Given the description of an element on the screen output the (x, y) to click on. 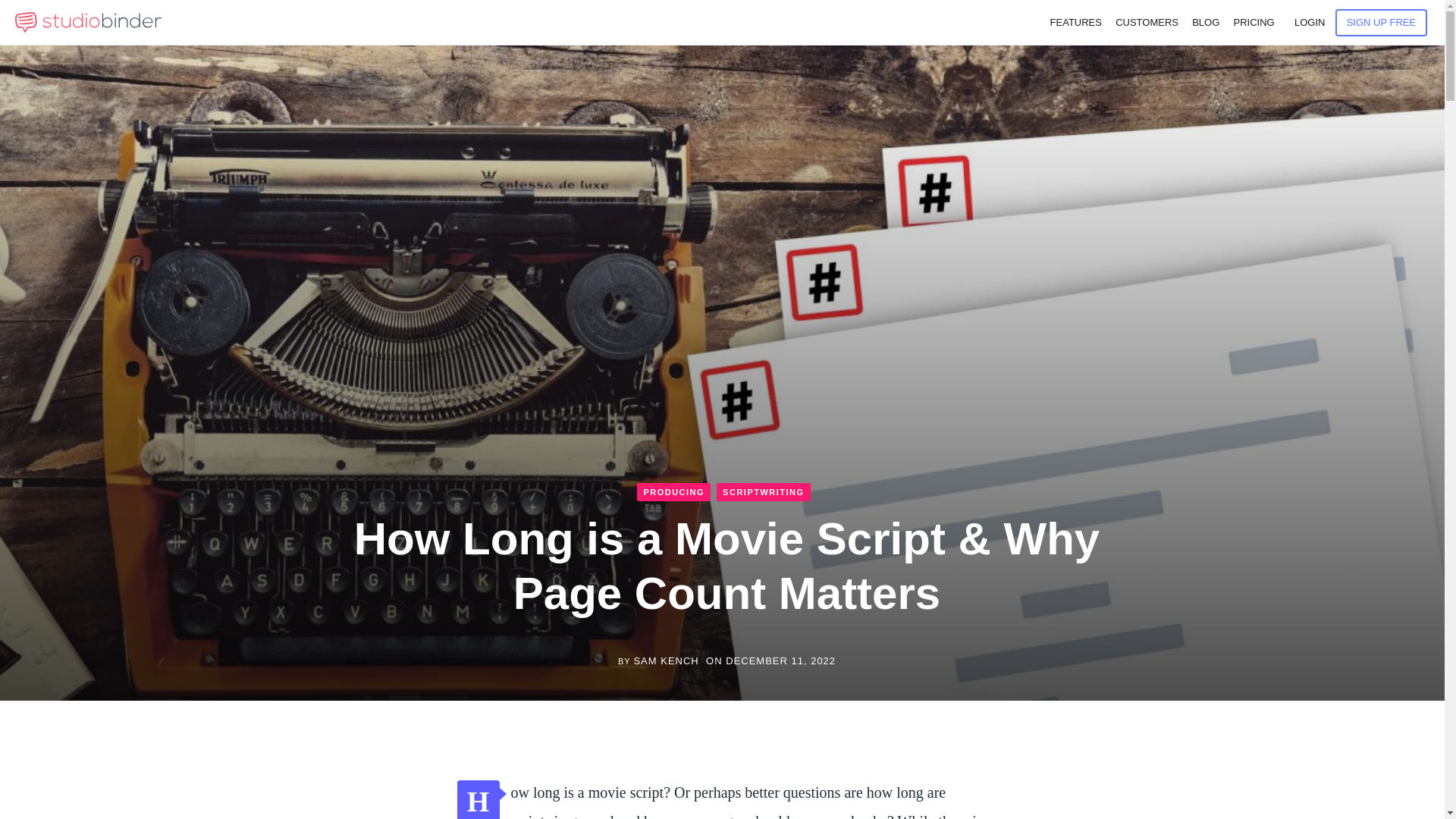
PRICING (1253, 22)
CUSTOMERS (1146, 22)
LOGIN (1309, 22)
SIGN UP FREE (1381, 22)
FEATURES (1075, 22)
Blog (1206, 22)
ON DECEMBER 11, 2022 (770, 660)
PRODUCING (673, 492)
BLOG (1206, 22)
SAM KENCH (665, 660)
